Given the description of an element on the screen output the (x, y) to click on. 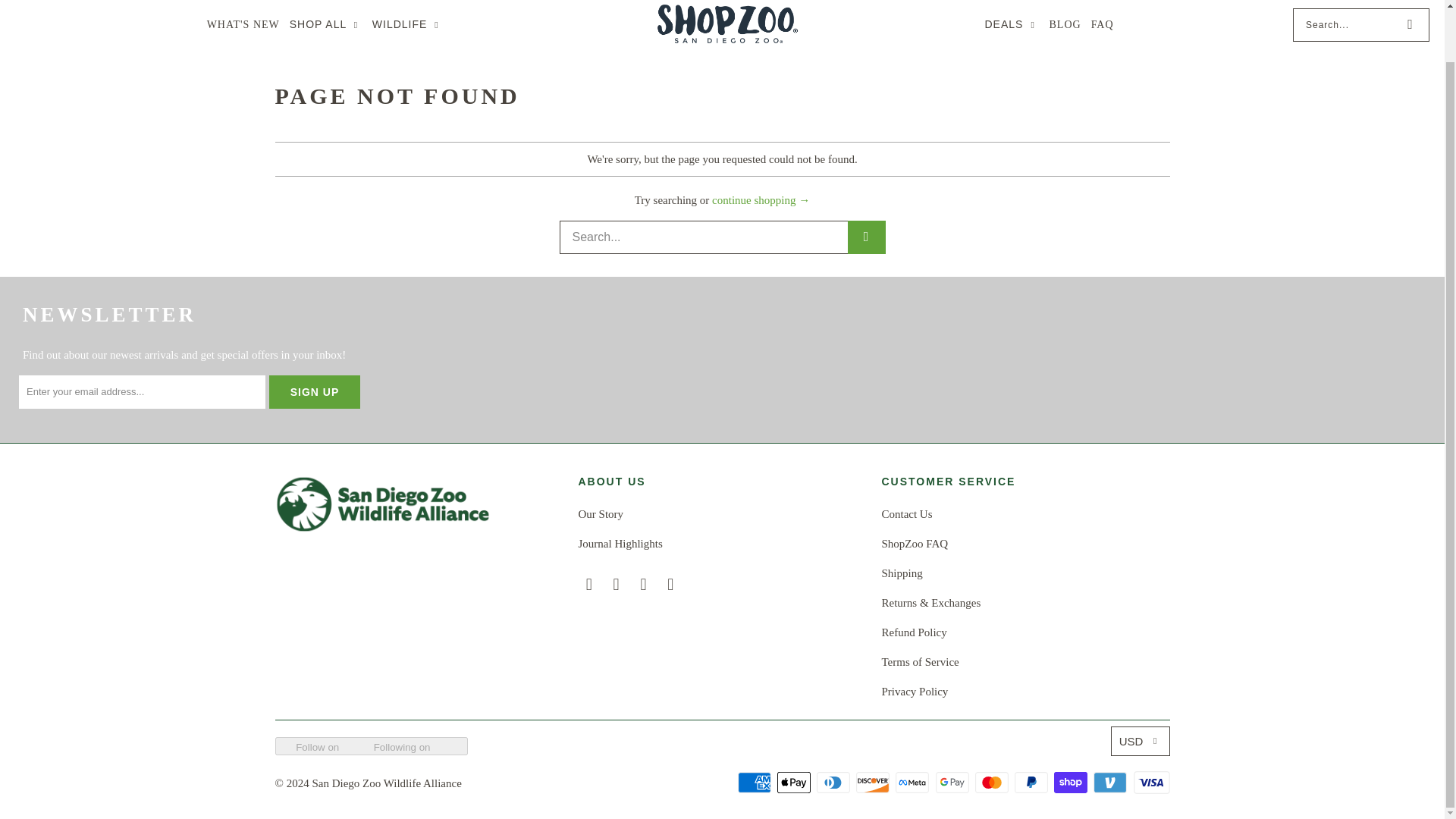
Visa (1150, 781)
ShopZoo on Facebook (588, 583)
American Express (756, 781)
ShopZoo on Pinterest (643, 583)
PayPal (1032, 781)
ShopZoo (727, 24)
Apple Pay (795, 781)
Shop Pay (1072, 781)
Venmo (1111, 781)
Mastercard (993, 781)
